Given the description of an element on the screen output the (x, y) to click on. 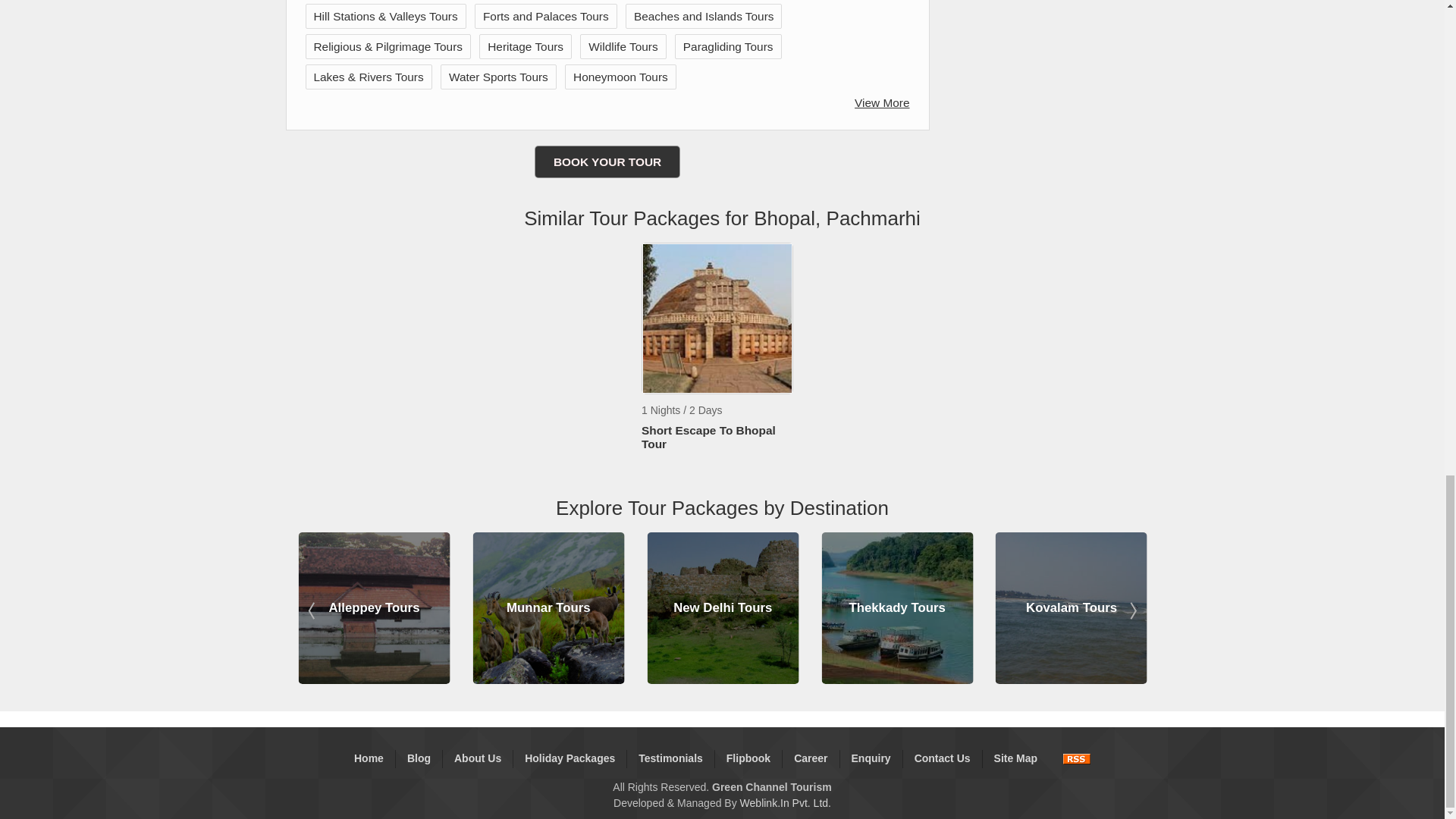
Heritage Tours (525, 45)
Beaches and Islands Tours (703, 15)
Wildlife Tours (623, 45)
Paragliding Tours (727, 45)
Forts and Palaces Tours (545, 15)
